Given the description of an element on the screen output the (x, y) to click on. 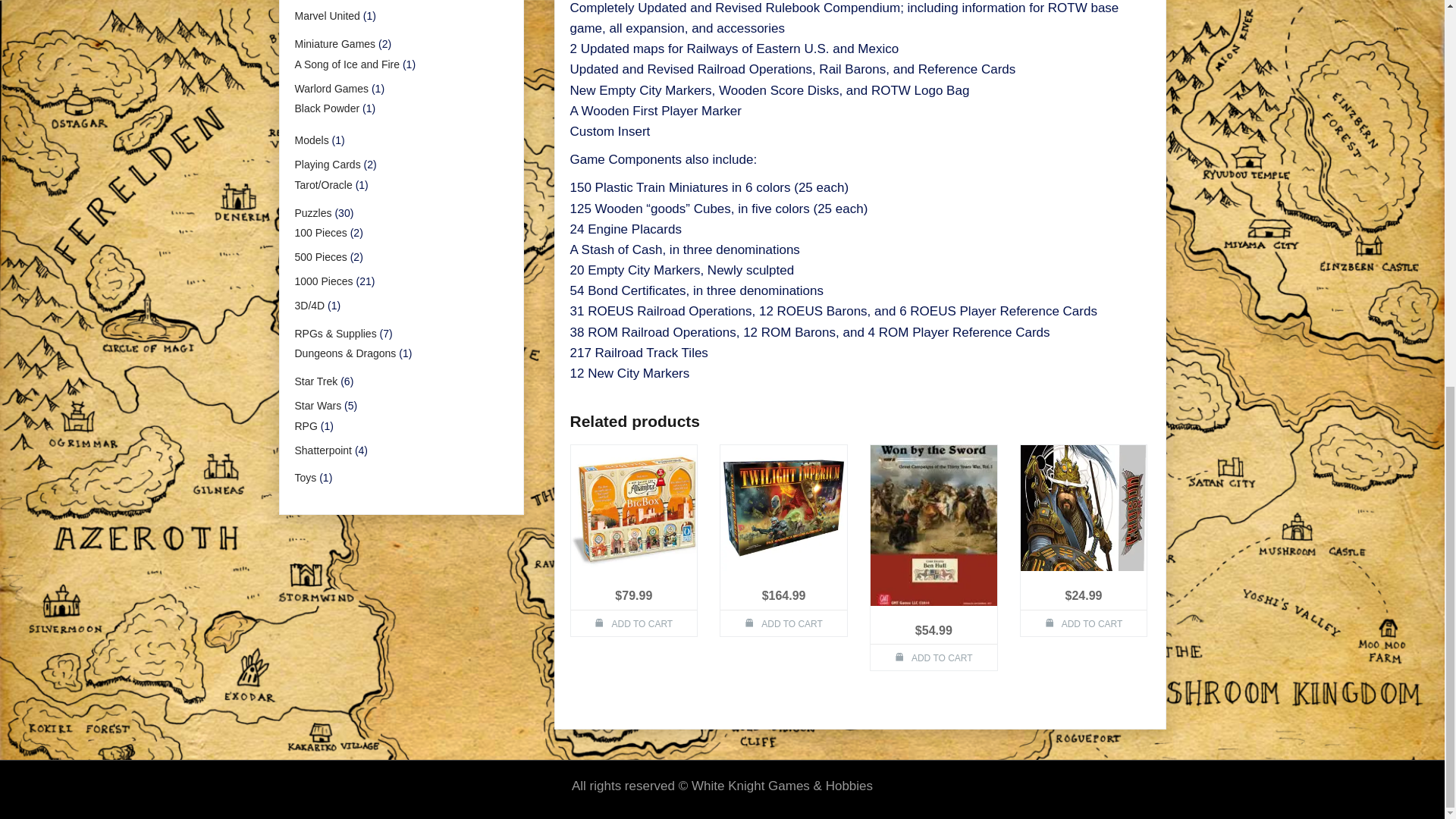
ADD TO CART (633, 622)
ADD TO CART (783, 622)
